Given the description of an element on the screen output the (x, y) to click on. 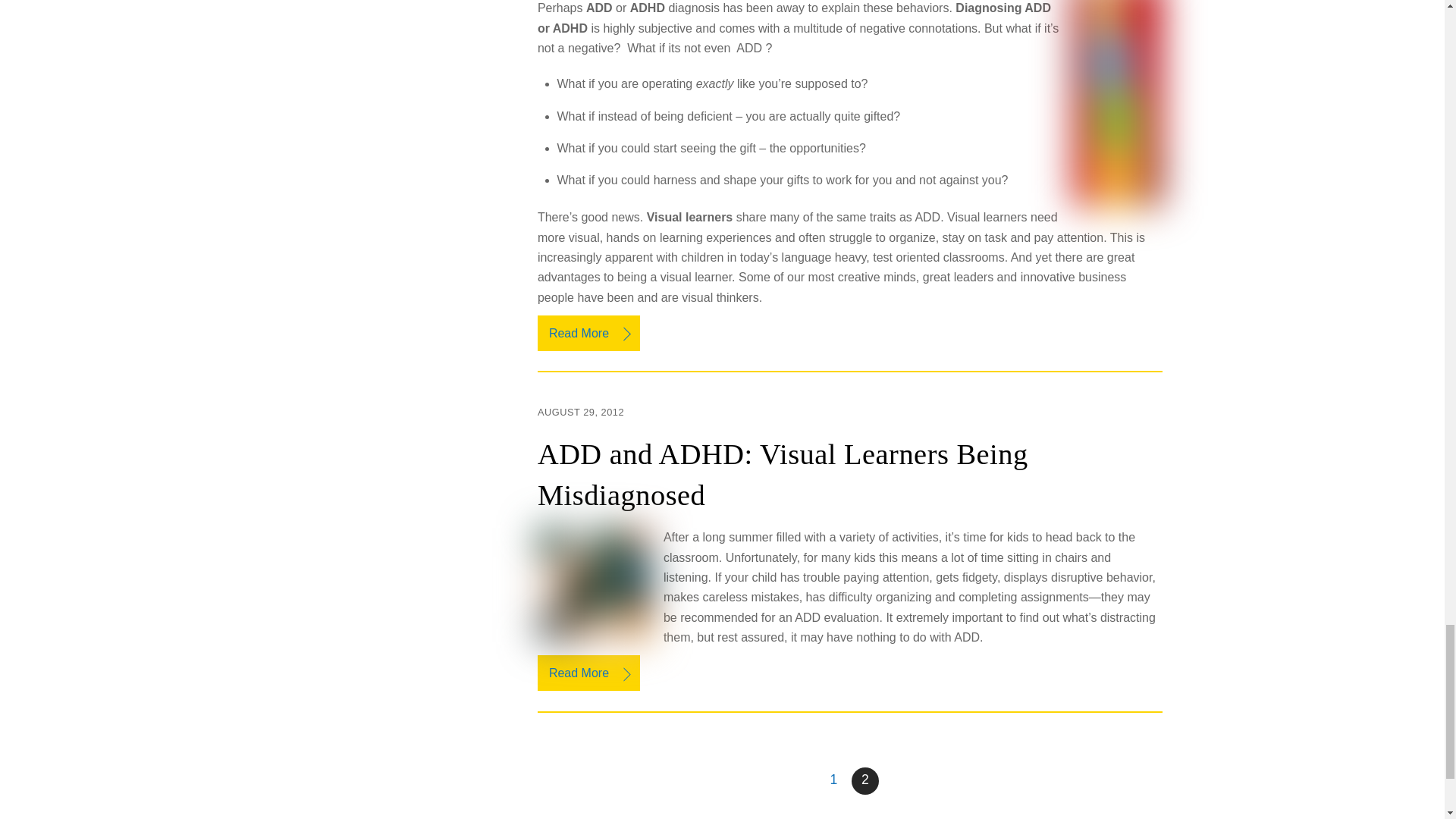
Distracted Student in Classroom (593, 584)
